Given the description of an element on the screen output the (x, y) to click on. 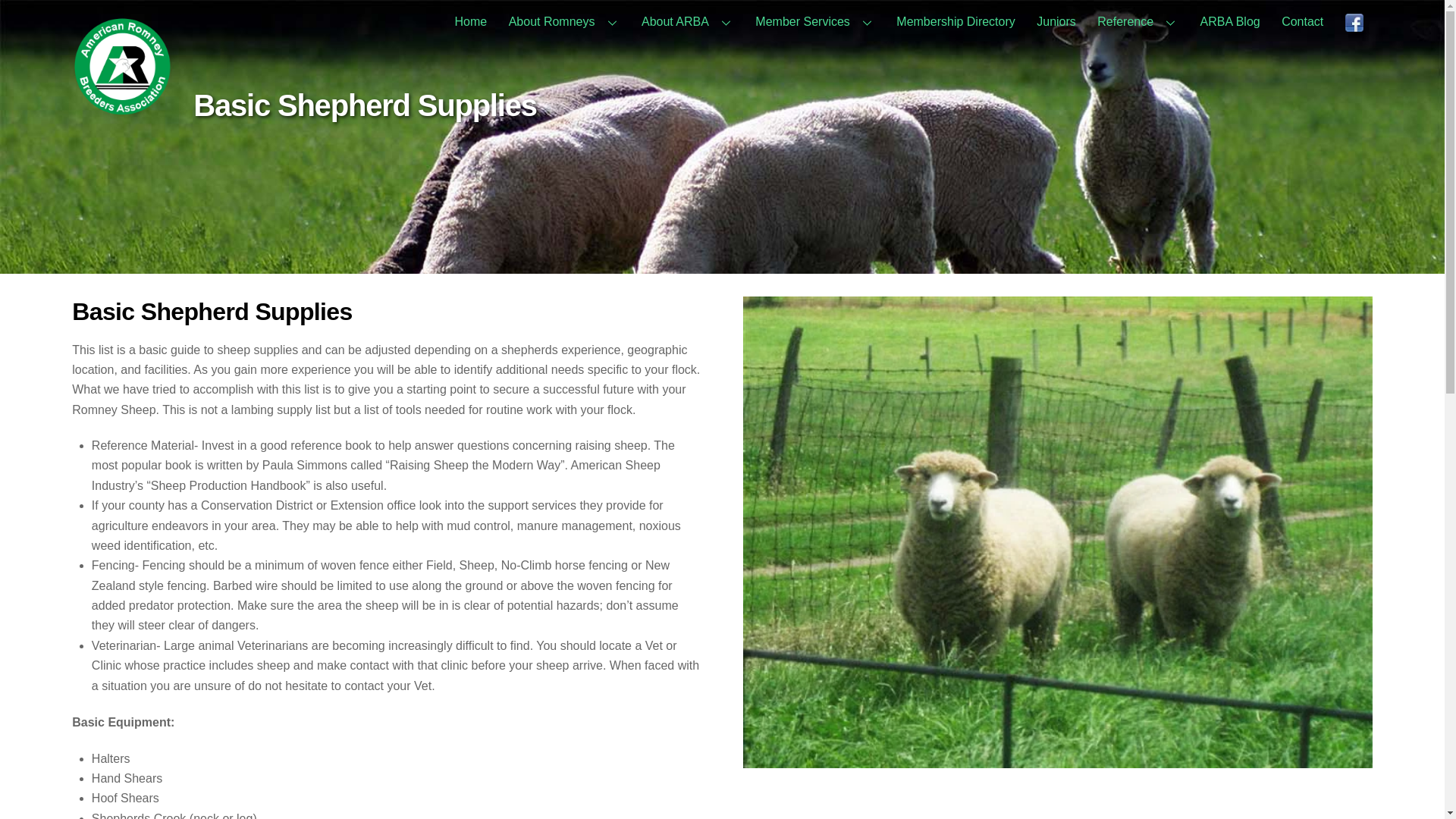
Home (470, 21)
American Romney Breeders Association (122, 110)
About ARBA (686, 21)
About Romneys (563, 21)
Member Services (814, 21)
